Given the description of an element on the screen output the (x, y) to click on. 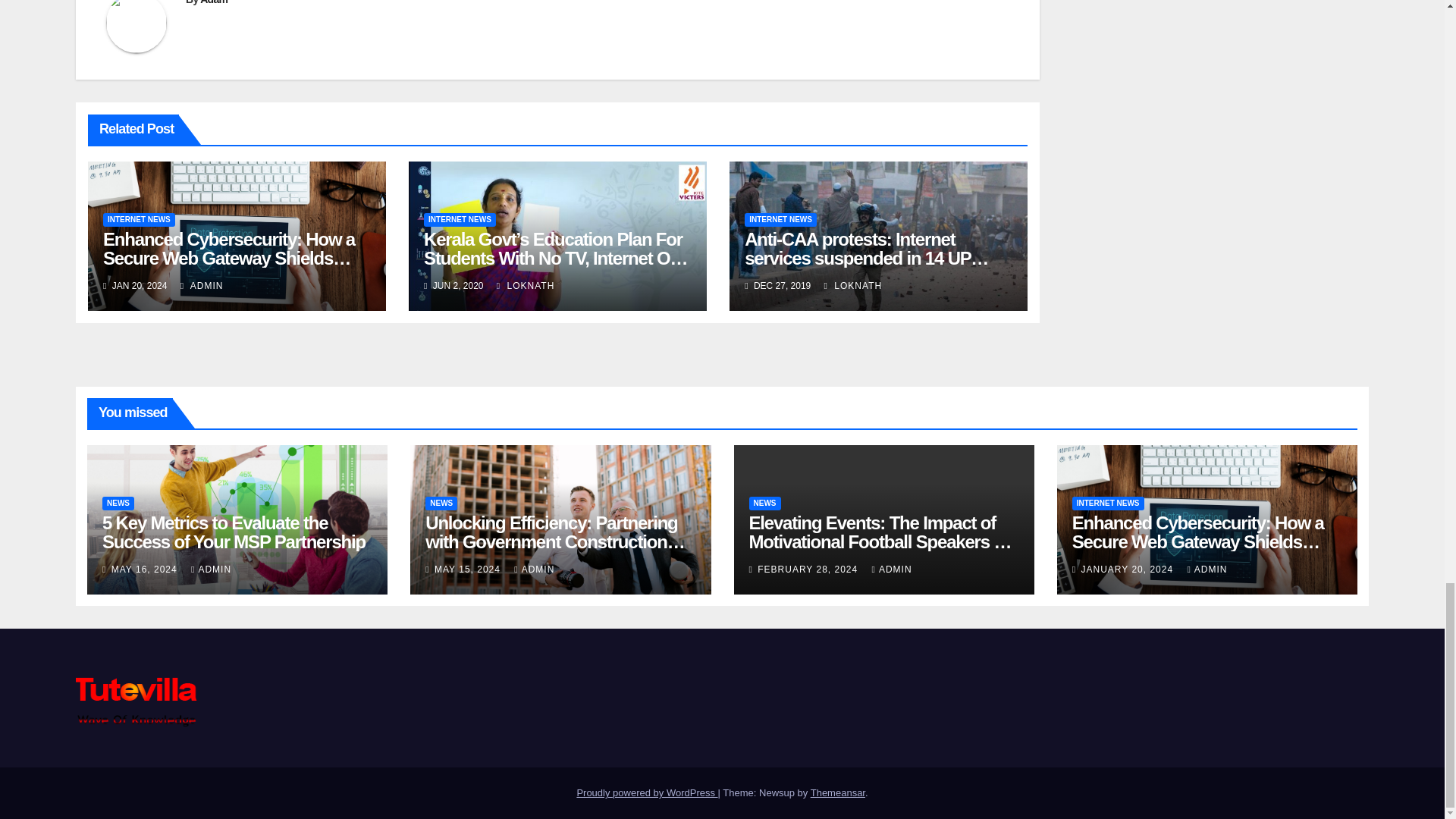
LOKNATH (525, 285)
INTERNET NEWS (138, 219)
ADMIN (202, 285)
INTERNET NEWS (780, 219)
Adam (213, 2)
INTERNET NEWS (459, 219)
